Given the description of an element on the screen output the (x, y) to click on. 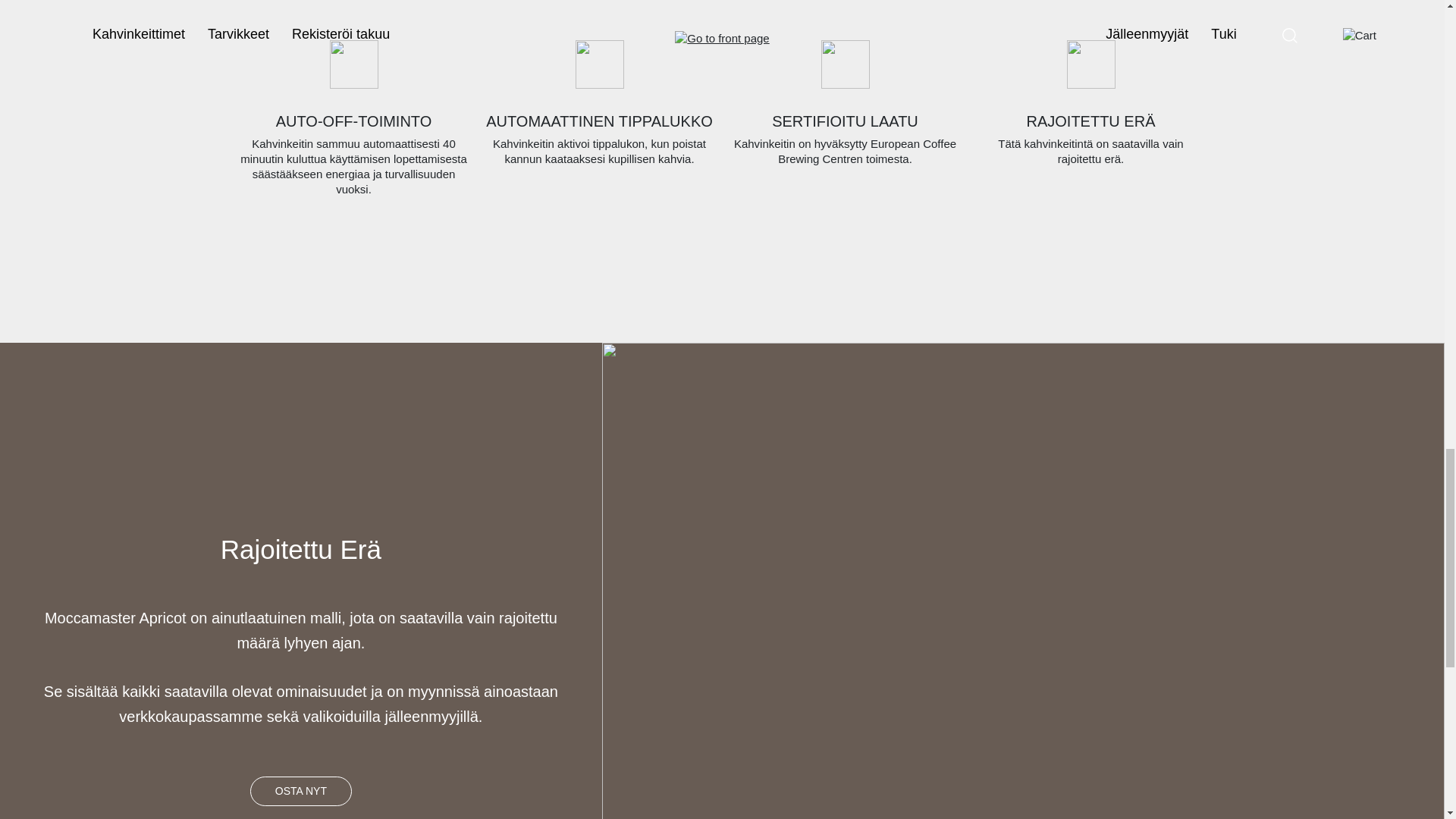
OSTA NYT (301, 790)
